Given the description of an element on the screen output the (x, y) to click on. 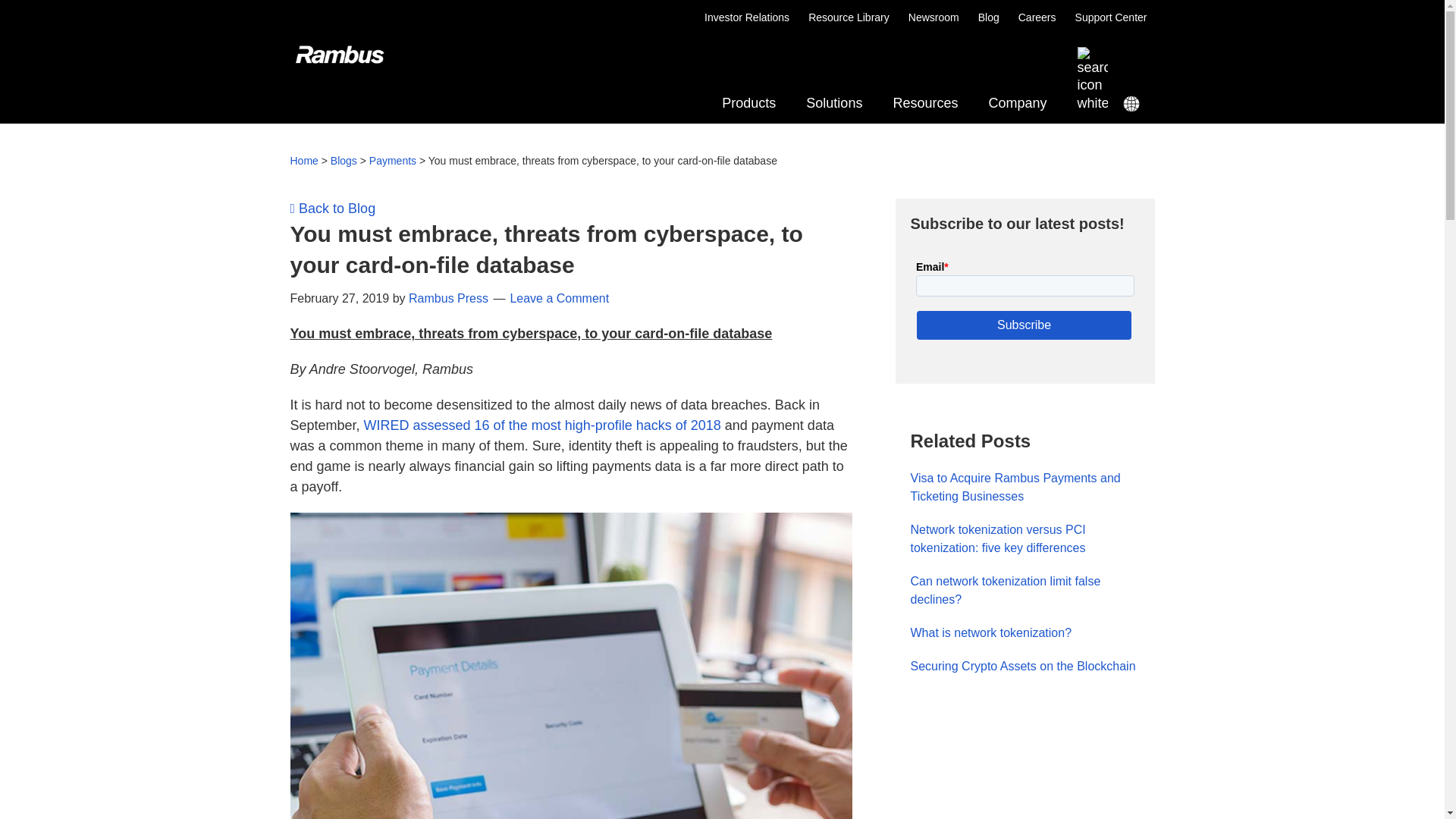
Permanent Link toWhat is network tokenization? (990, 632)
Careers (1037, 17)
Rambus (319, 74)
Newsroom (933, 17)
Support Center (1111, 17)
Resource Library (721, 79)
